Given the description of an element on the screen output the (x, y) to click on. 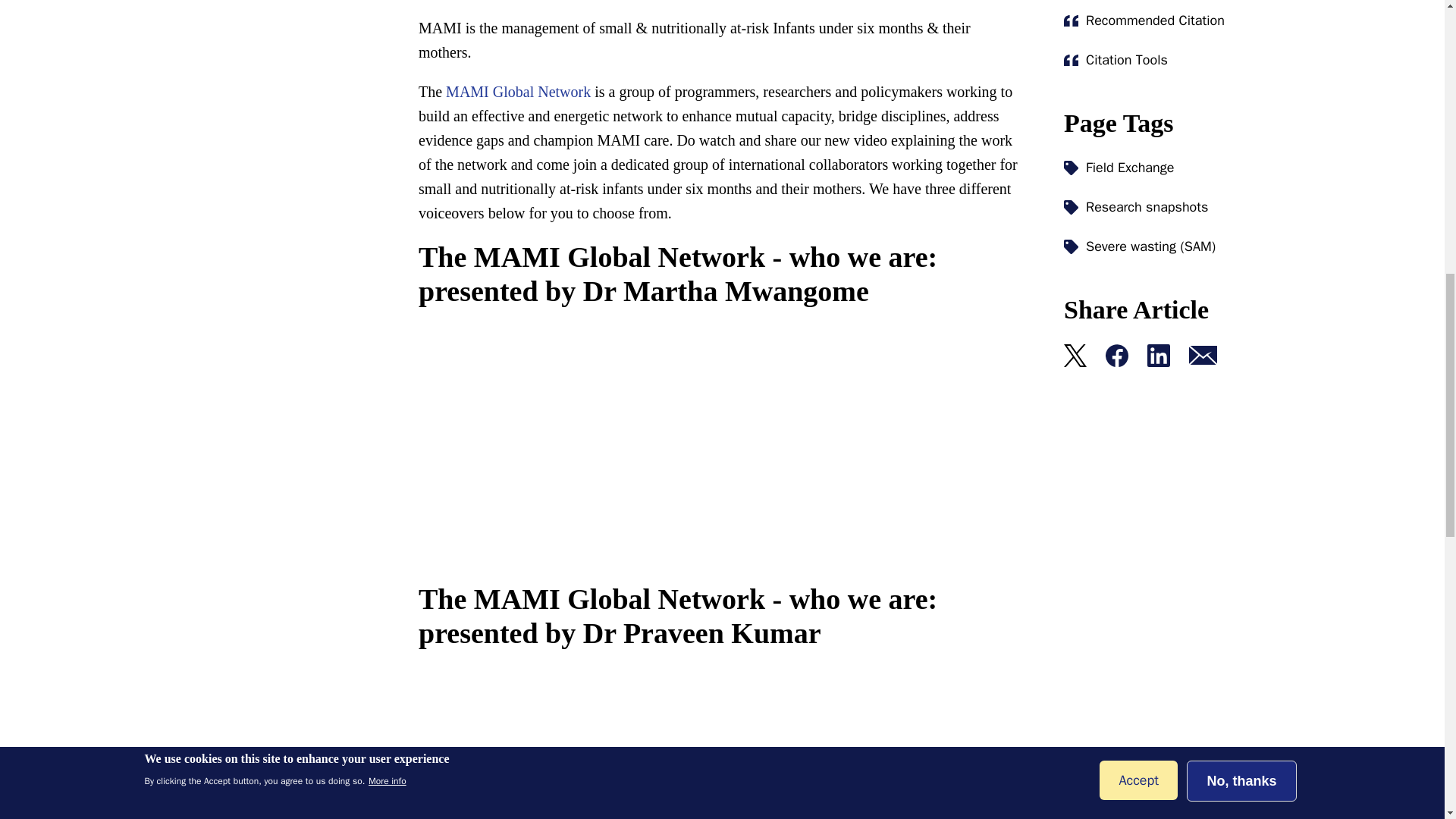
MAMI Global Network (518, 91)
YouTube video player (631, 447)
YouTube video player (631, 744)
